Given the description of an element on the screen output the (x, y) to click on. 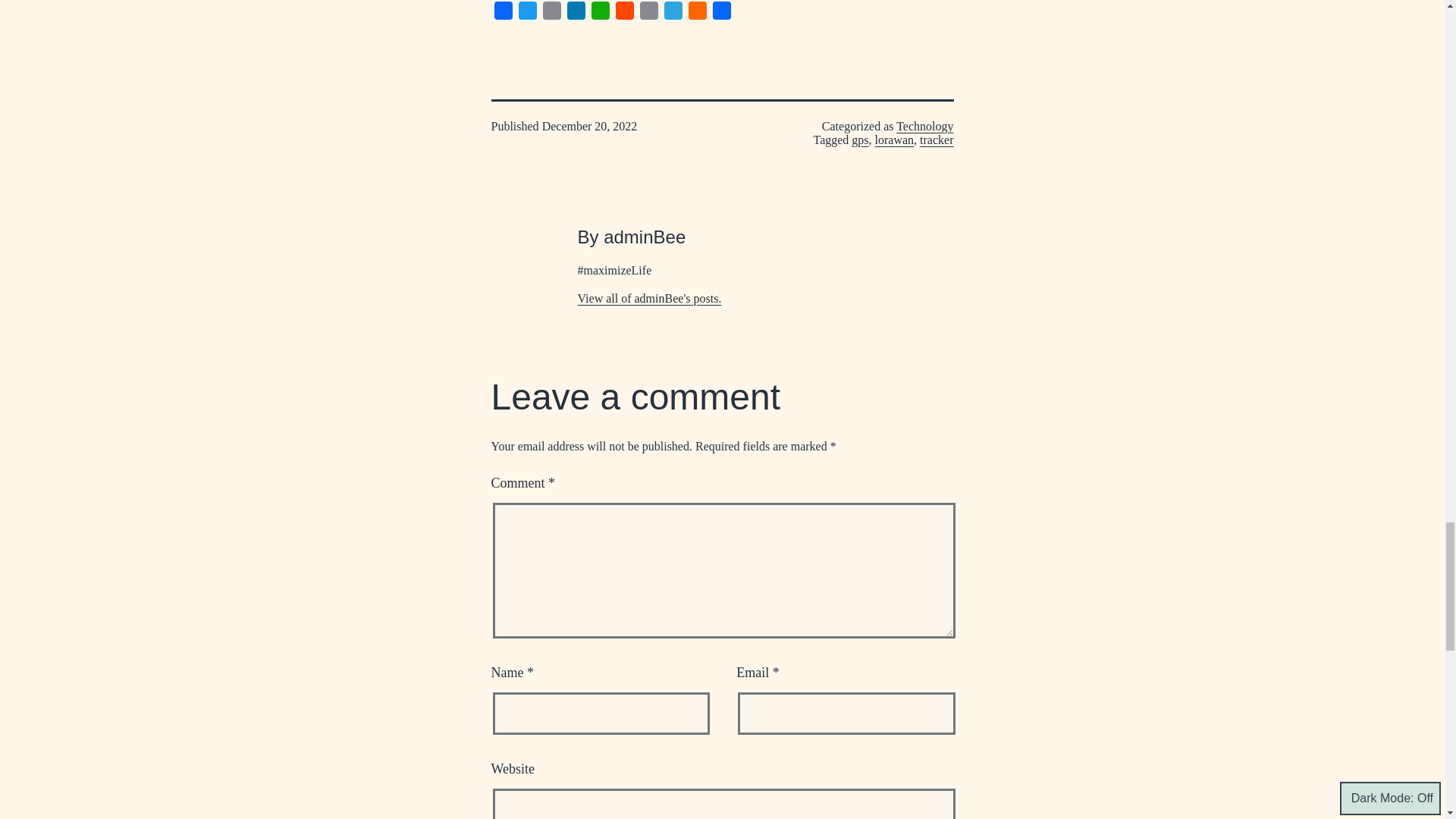
View all of adminBee's posts. (650, 297)
Twitter (527, 11)
Reddit (624, 11)
LinkedIn (576, 11)
Technology (924, 125)
WhatsApp (600, 11)
lorawan (894, 139)
Facebook (503, 11)
gps (859, 139)
Copy Link (649, 11)
